Given the description of an element on the screen output the (x, y) to click on. 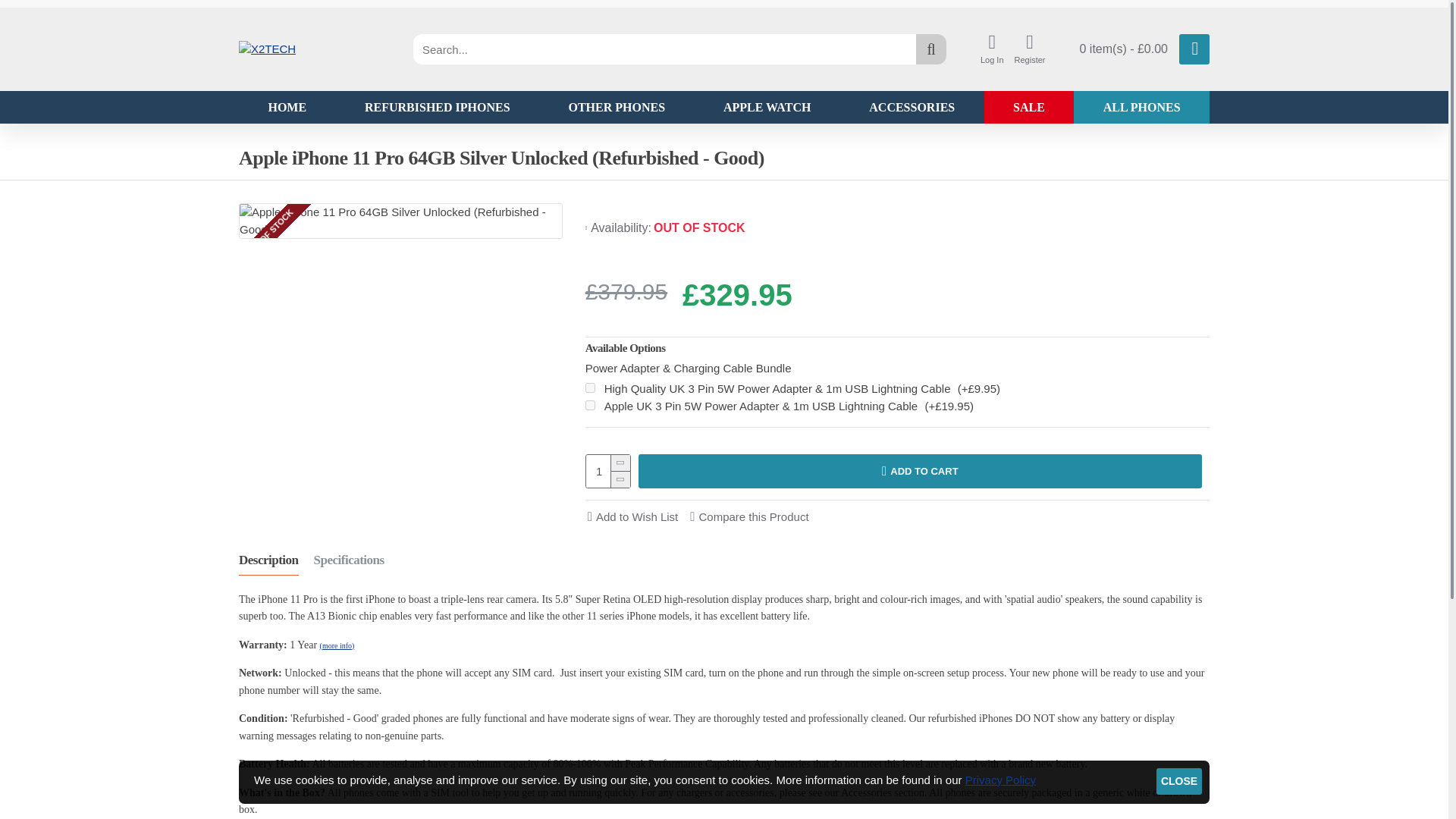
X2TECH (266, 48)
ALL PHONES (1141, 106)
ACCESSORIES (912, 106)
REFURBISHED IPHONES (437, 106)
1084 (590, 405)
1083 (590, 388)
APPLE WATCH (767, 106)
HOME (287, 106)
OTHER PHONES (616, 106)
1 (608, 471)
SALE (1029, 106)
Register (1029, 49)
